Given the description of an element on the screen output the (x, y) to click on. 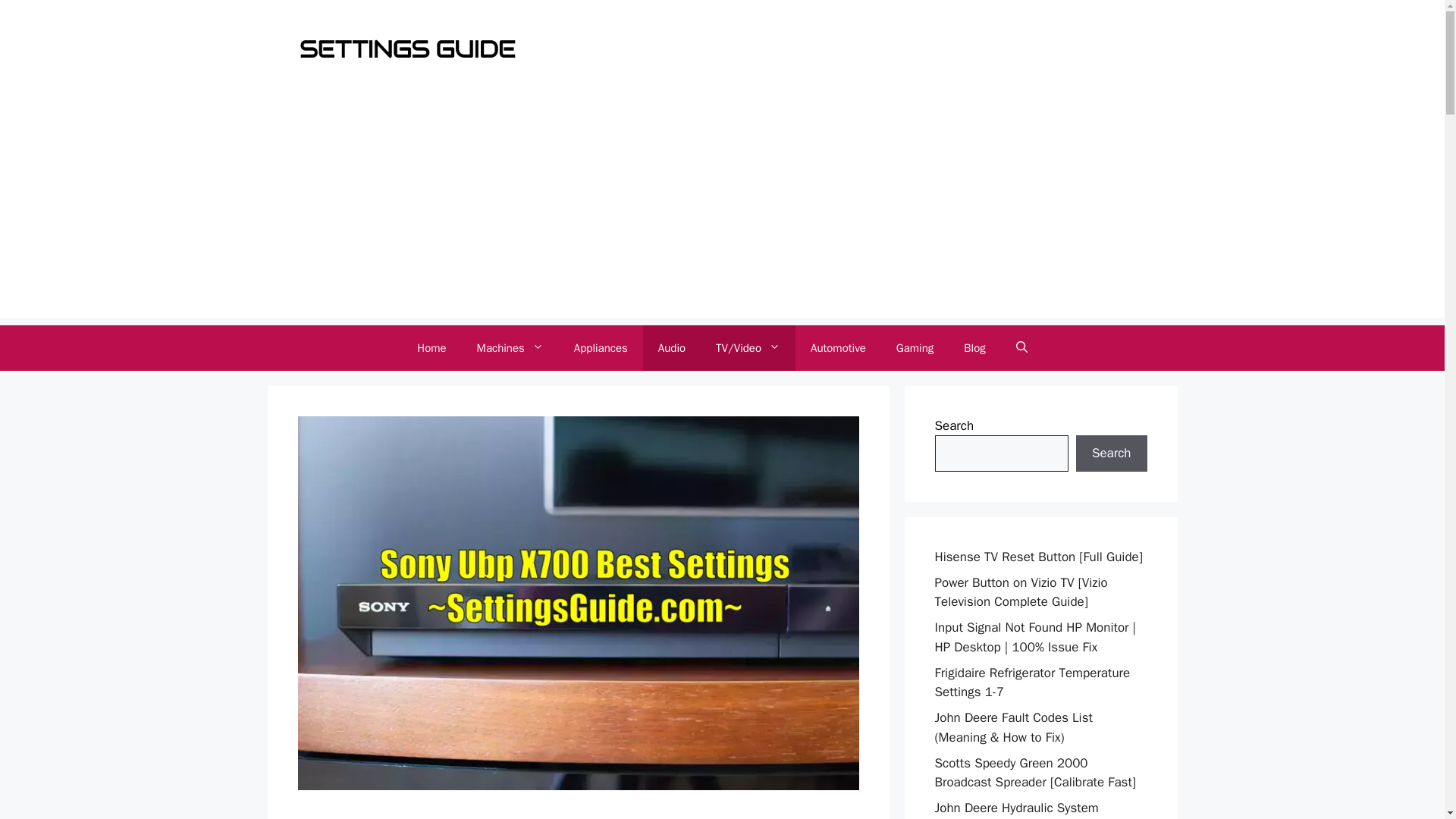
Blog (974, 348)
Search (1111, 452)
Gaming (914, 348)
Automotive (837, 348)
Audio (671, 348)
Home (431, 348)
Frigidaire Refrigerator Temperature Settings 1-7 (1031, 683)
Appliances (601, 348)
Machines (510, 348)
